Given the description of an element on the screen output the (x, y) to click on. 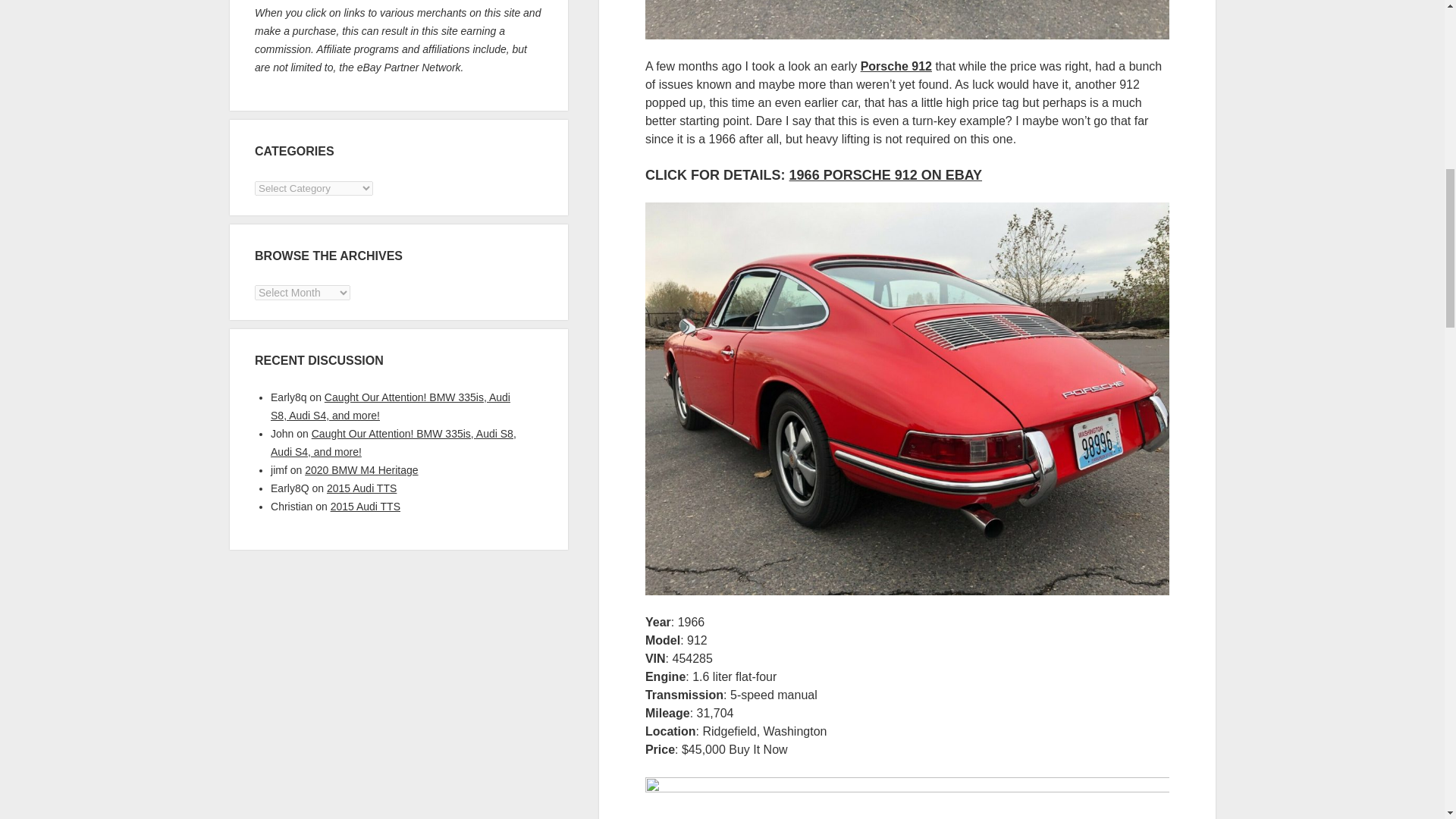
2015 Audi TTS (365, 506)
Caught Our Attention! BMW 335is, Audi S8, Audi S4, and more! (390, 406)
Porsche 912 (895, 65)
2015 Audi TTS (361, 488)
Caught Our Attention! BMW 335is, Audi S8, Audi S4, and more! (393, 442)
1966 PORSCHE 912 ON EBAY (885, 174)
2020 BMW M4 Heritage (360, 469)
